Given the description of an element on the screen output the (x, y) to click on. 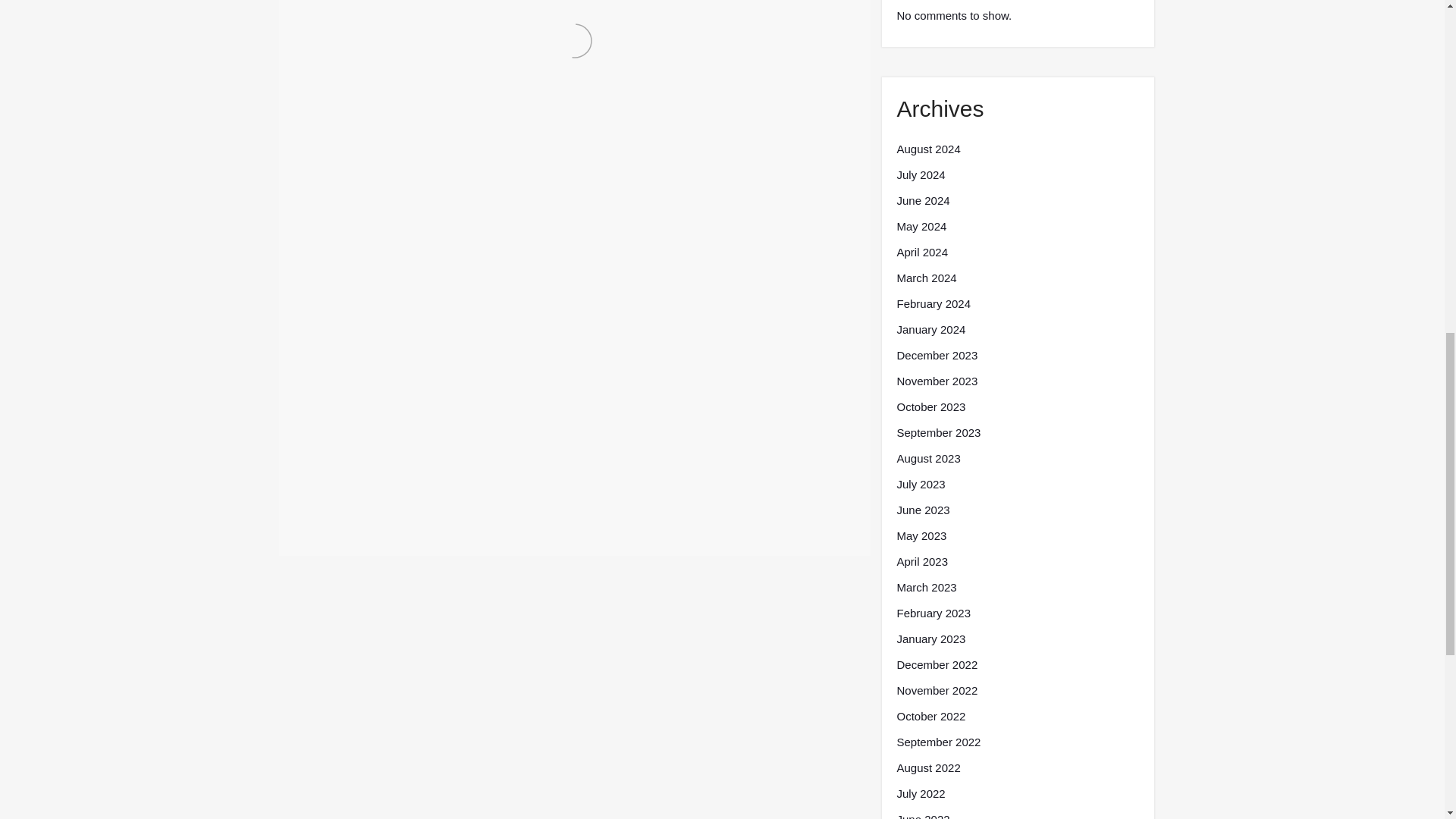
August 2022 (927, 768)
August 2023 (927, 458)
August 2024 (927, 149)
November 2022 (936, 690)
April 2024 (921, 252)
January 2024 (930, 330)
May 2024 (921, 226)
June 2024 (922, 200)
February 2024 (933, 303)
February 2023 (933, 613)
